Given the description of an element on the screen output the (x, y) to click on. 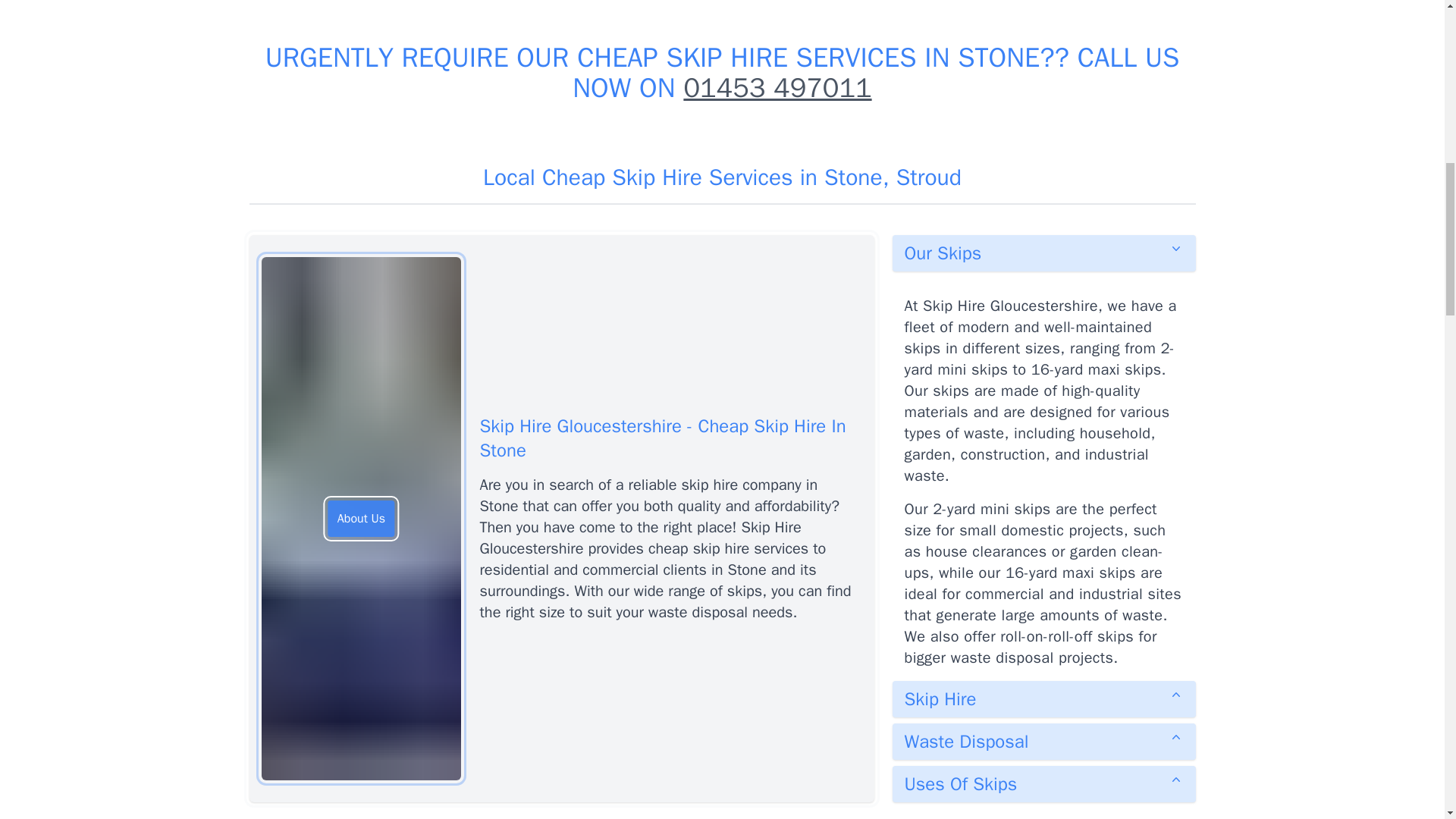
Skip Hire (1043, 698)
01453 497011 (776, 87)
Our Skips (1043, 253)
Uses Of Skips (1043, 783)
Waste Disposal (1043, 741)
About Us (361, 518)
